Given the description of an element on the screen output the (x, y) to click on. 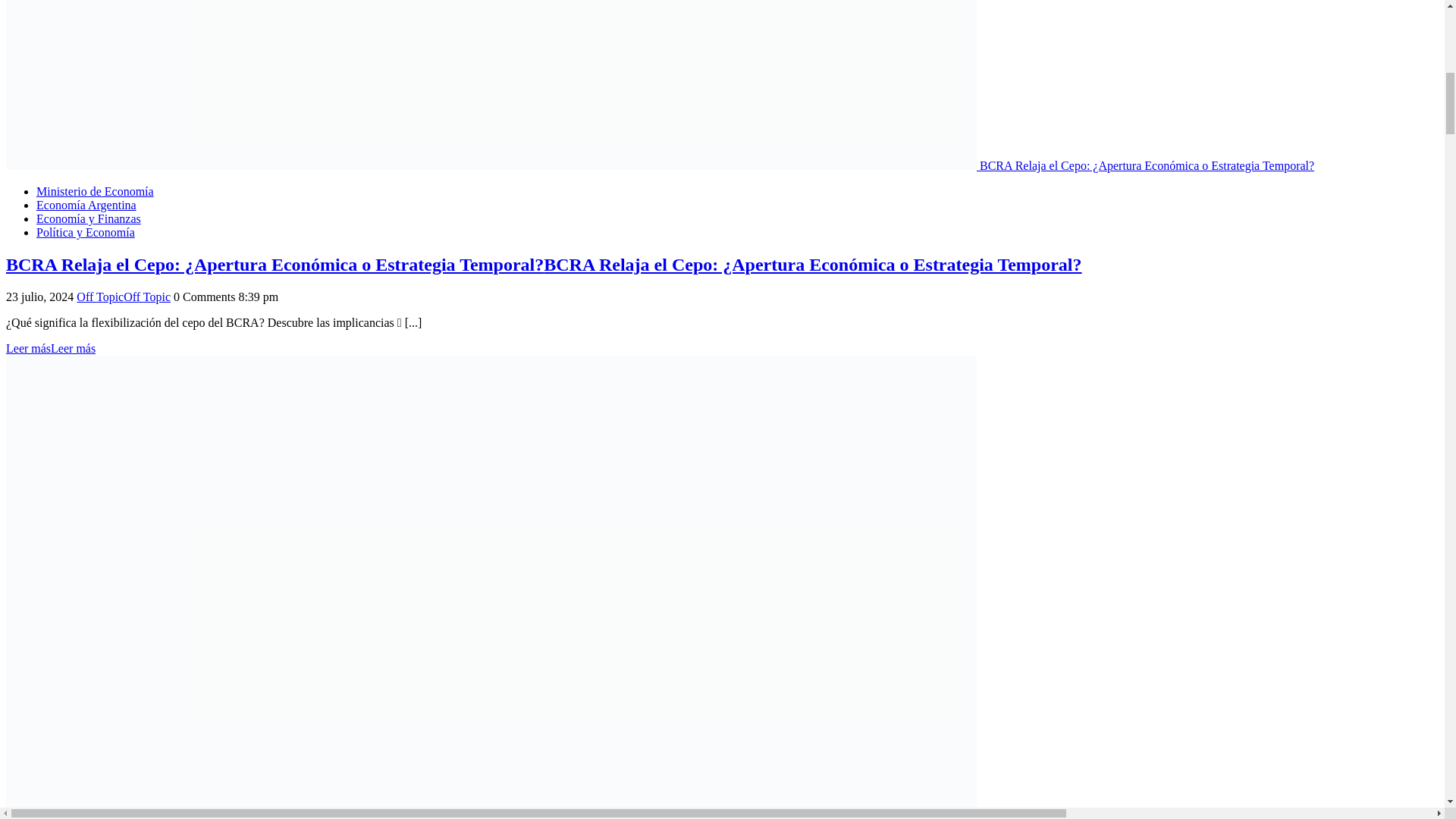
Off TopicOff Topic (123, 296)
